Given the description of an element on the screen output the (x, y) to click on. 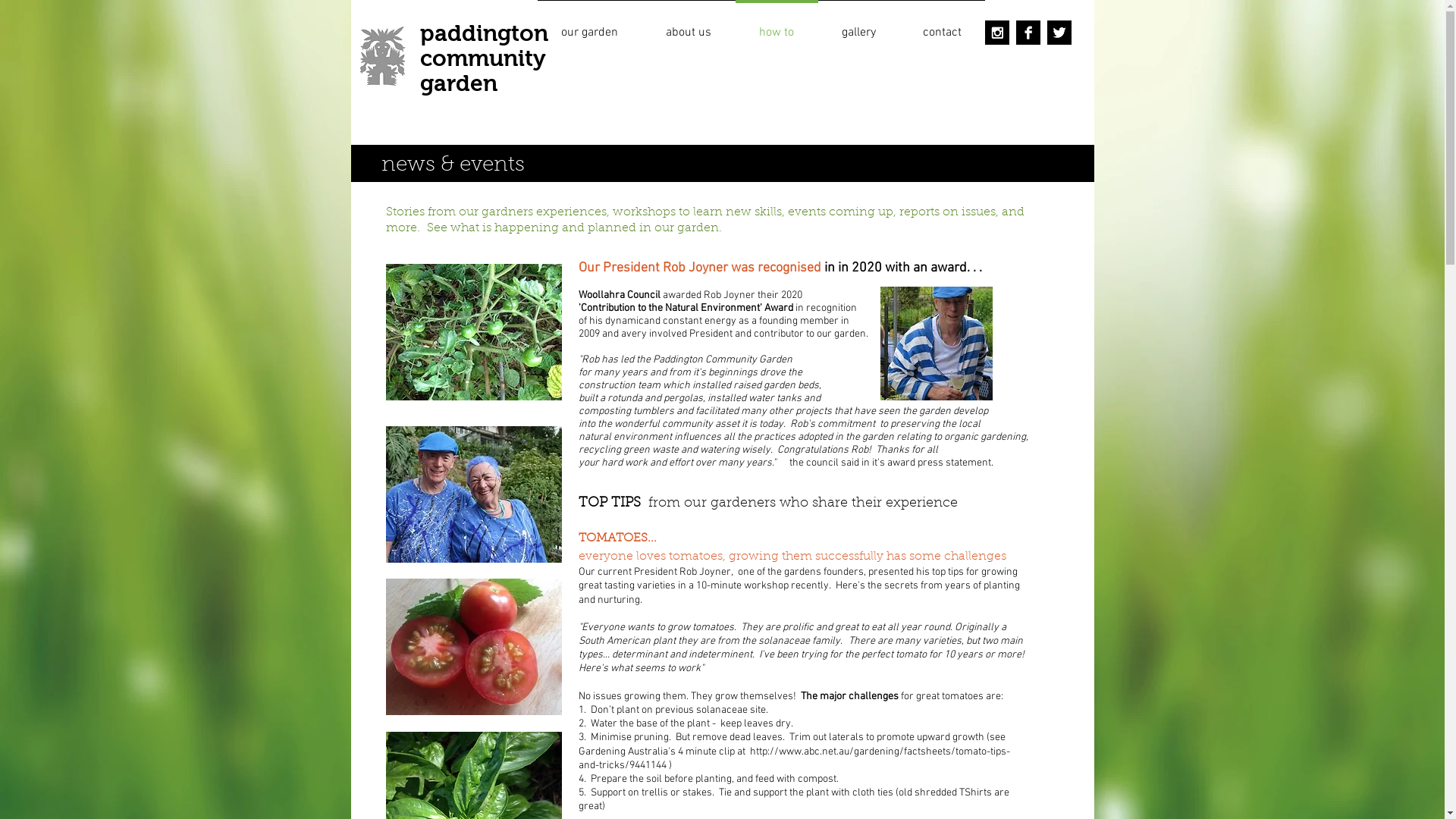
about us Element type: text (687, 25)
contact Element type: text (942, 25)
PCG plantman logo_grey.jpg Element type: hover (382, 55)
gallery Element type: text (857, 25)
paddington Element type: text (484, 32)
our garden Element type: text (588, 25)
community garden Element type: text (483, 70)
how to Element type: text (776, 25)
